Given the description of an element on the screen output the (x, y) to click on. 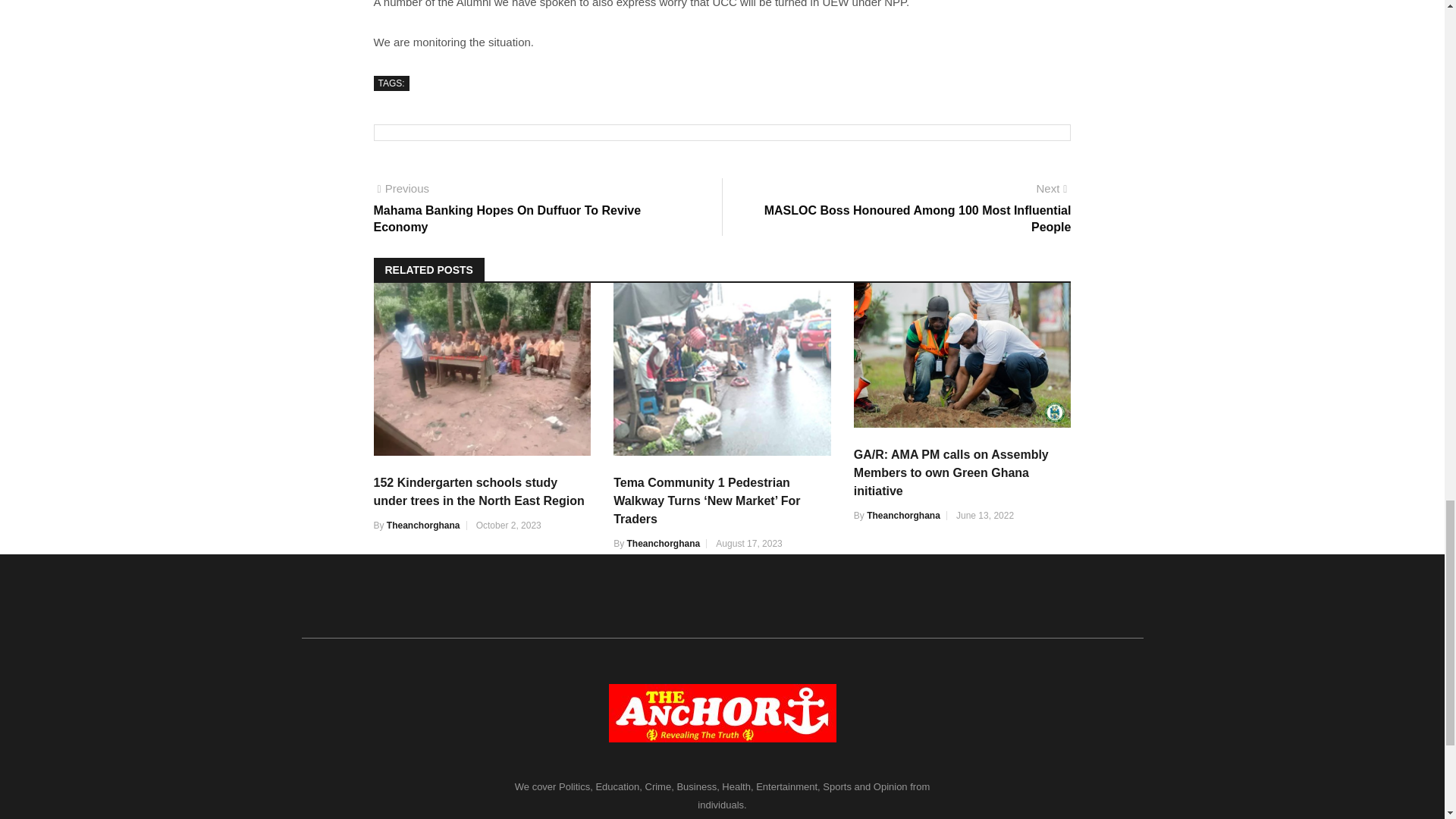
Theanchorghana (663, 543)
Theanchorghana (423, 525)
Theanchorghana (903, 515)
Posts by theanchorghana (423, 525)
Posts by theanchorghana (663, 543)
Posts by theanchorghana (903, 515)
